Given the description of an element on the screen output the (x, y) to click on. 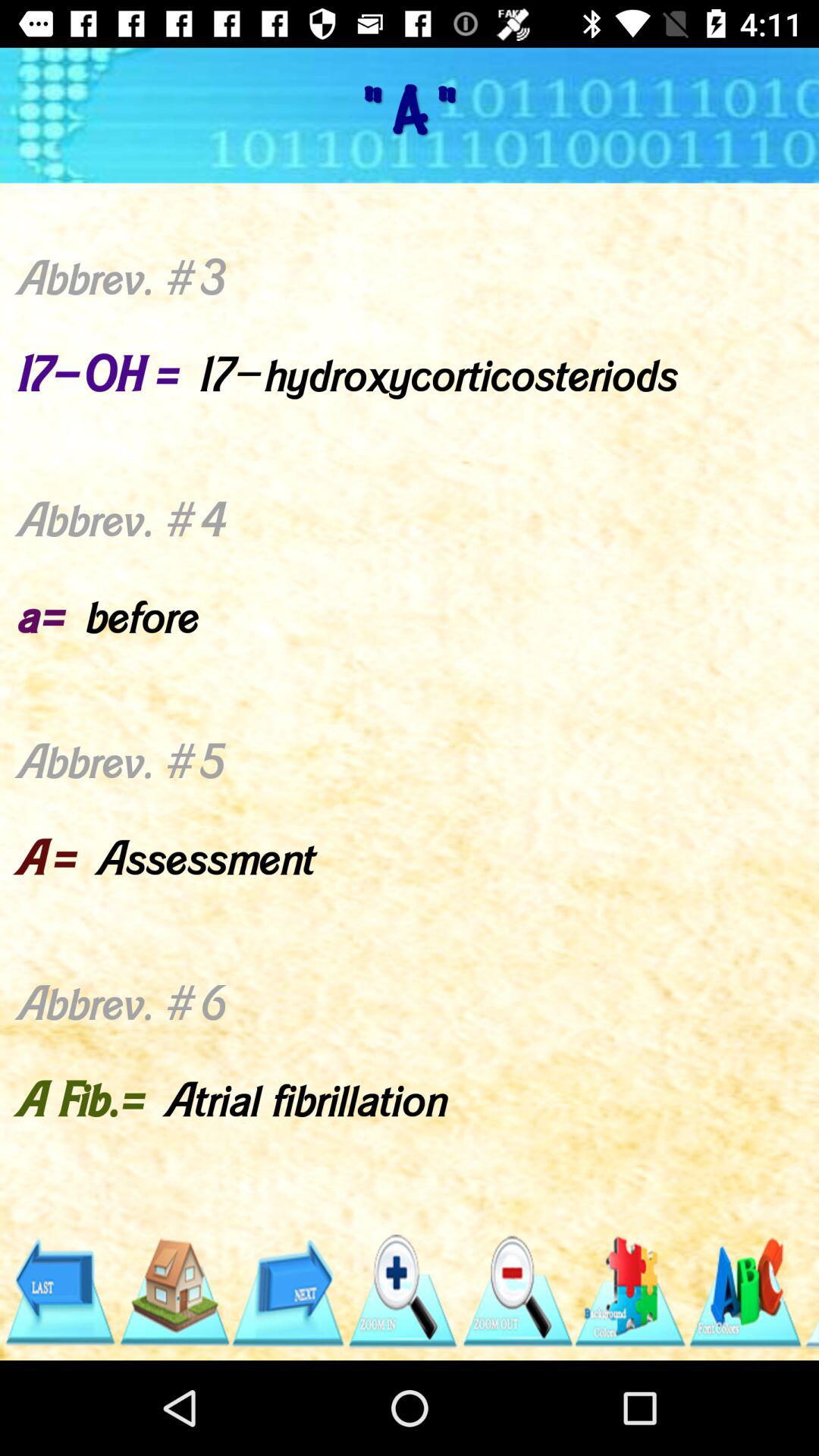
vocabulary practice review option (745, 1291)
